Given the description of an element on the screen output the (x, y) to click on. 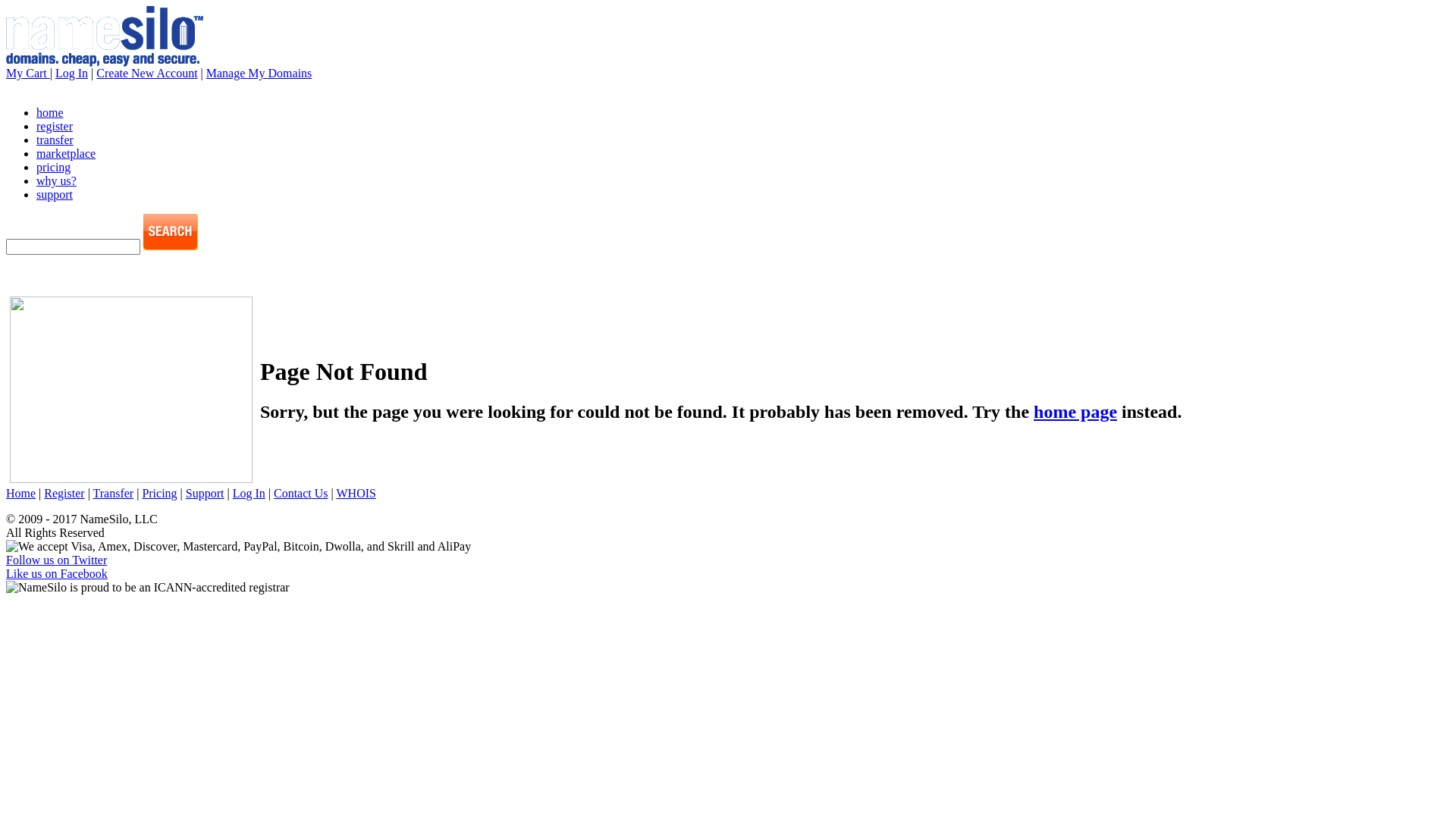
Home Element type: text (20, 492)
transfer Element type: text (54, 139)
Register Element type: text (63, 492)
pricing Element type: text (53, 166)
Transfer Element type: text (113, 492)
Contact Us Element type: text (300, 492)
support Element type: text (54, 194)
home page Element type: text (1075, 411)
register Element type: text (54, 125)
home Element type: text (49, 112)
Pricing Element type: text (158, 492)
WHOIS Element type: text (355, 492)
marketplace Element type: text (65, 153)
NameSilo is proud to be an ICANN-accredited registrar Element type: hover (147, 587)
Manage My Domains Element type: text (259, 72)
Like us on Facebook Element type: text (56, 573)
Create New Account Element type: text (146, 72)
Support Element type: text (204, 492)
Log In Element type: text (248, 492)
Log In Element type: text (71, 72)
My Cart Element type: text (28, 72)
why us? Element type: text (56, 180)
Follow us on Twitter Element type: text (56, 559)
